Given the description of an element on the screen output the (x, y) to click on. 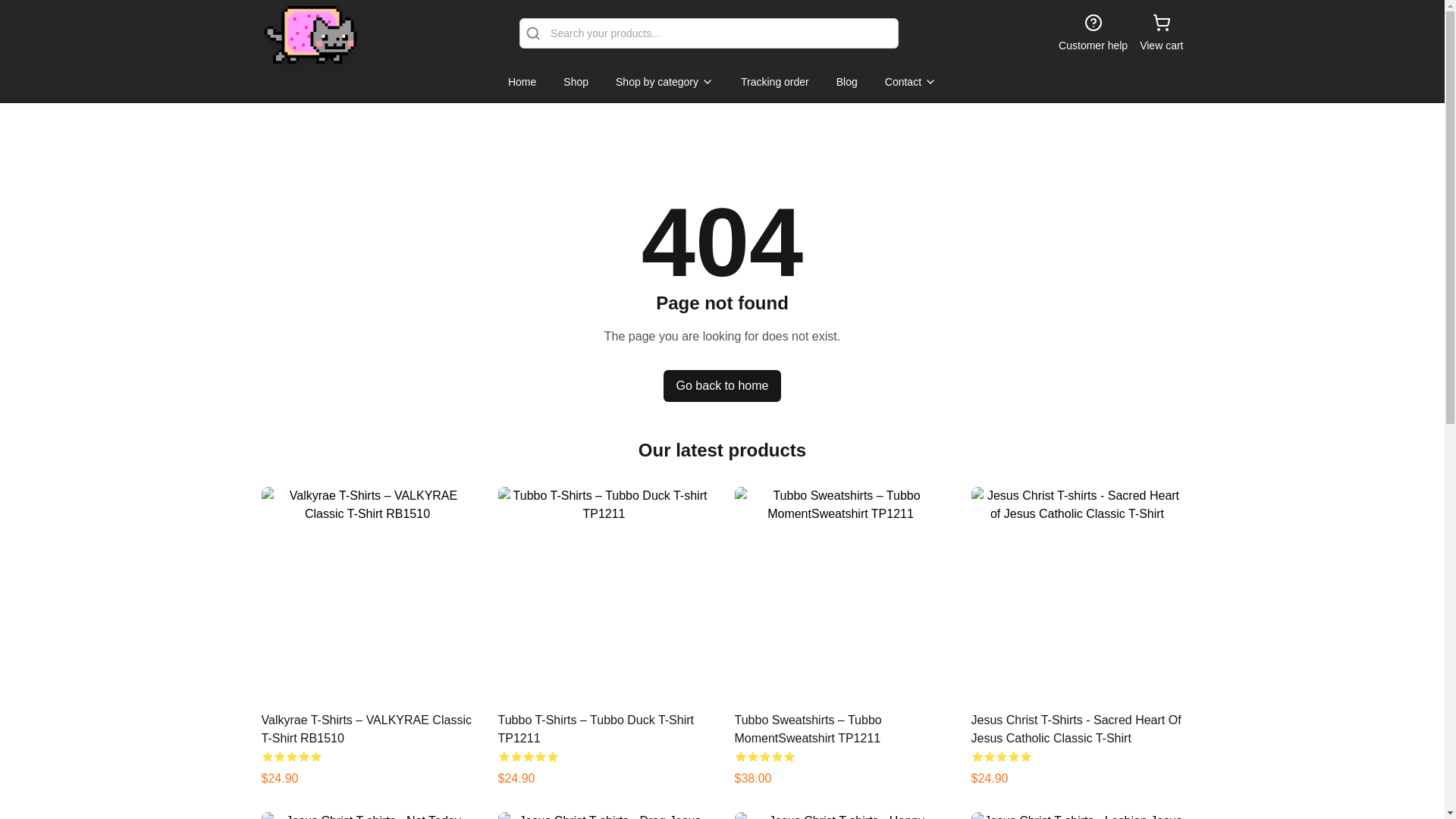
Tracking order (775, 81)
Shop (575, 81)
Contact (910, 81)
View cart (1161, 33)
Customer help (1092, 33)
view cart (1161, 33)
Blog (846, 81)
Shop by category (664, 81)
Home (522, 81)
customer help (1092, 33)
